Given the description of an element on the screen output the (x, y) to click on. 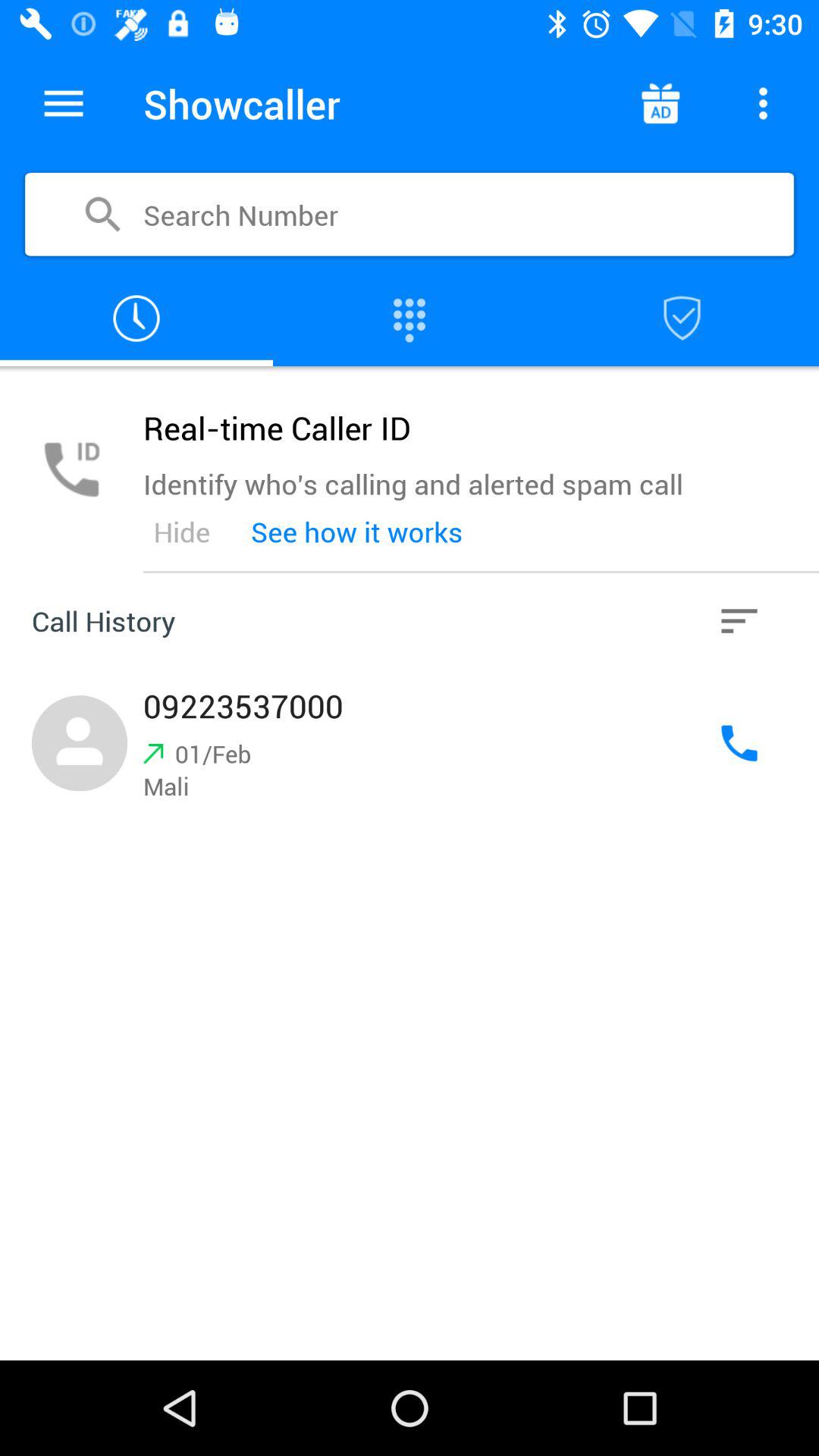
open keypad (409, 318)
